Given the description of an element on the screen output the (x, y) to click on. 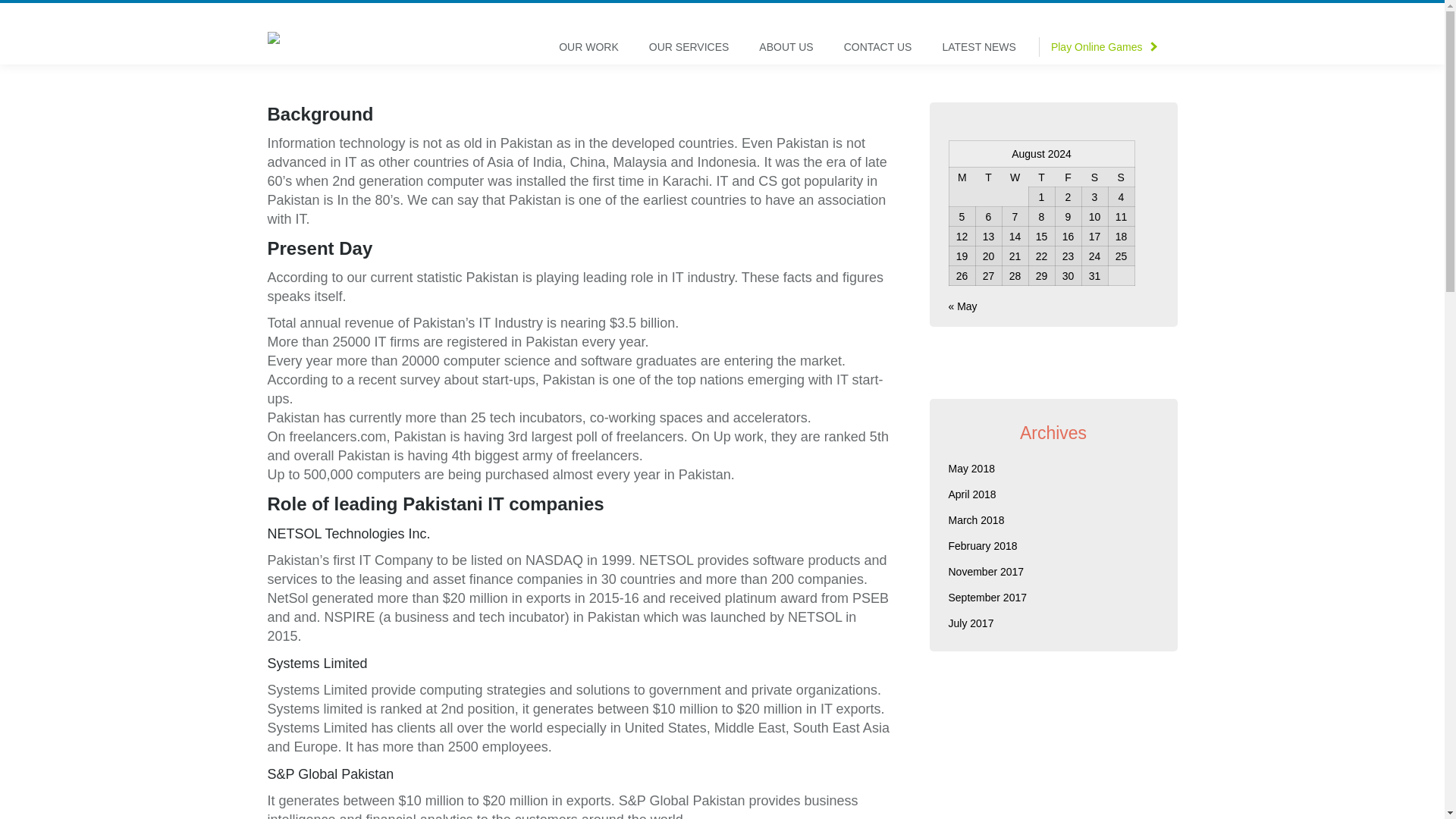
Thursday (1040, 177)
Sunday (1121, 177)
ABOUT US (786, 46)
OUR WORK (588, 46)
Friday (1067, 177)
Saturday (1094, 177)
May 2018 (970, 468)
Monday (962, 177)
OUR SERVICES (689, 46)
CONTACT US (877, 46)
